Given the description of an element on the screen output the (x, y) to click on. 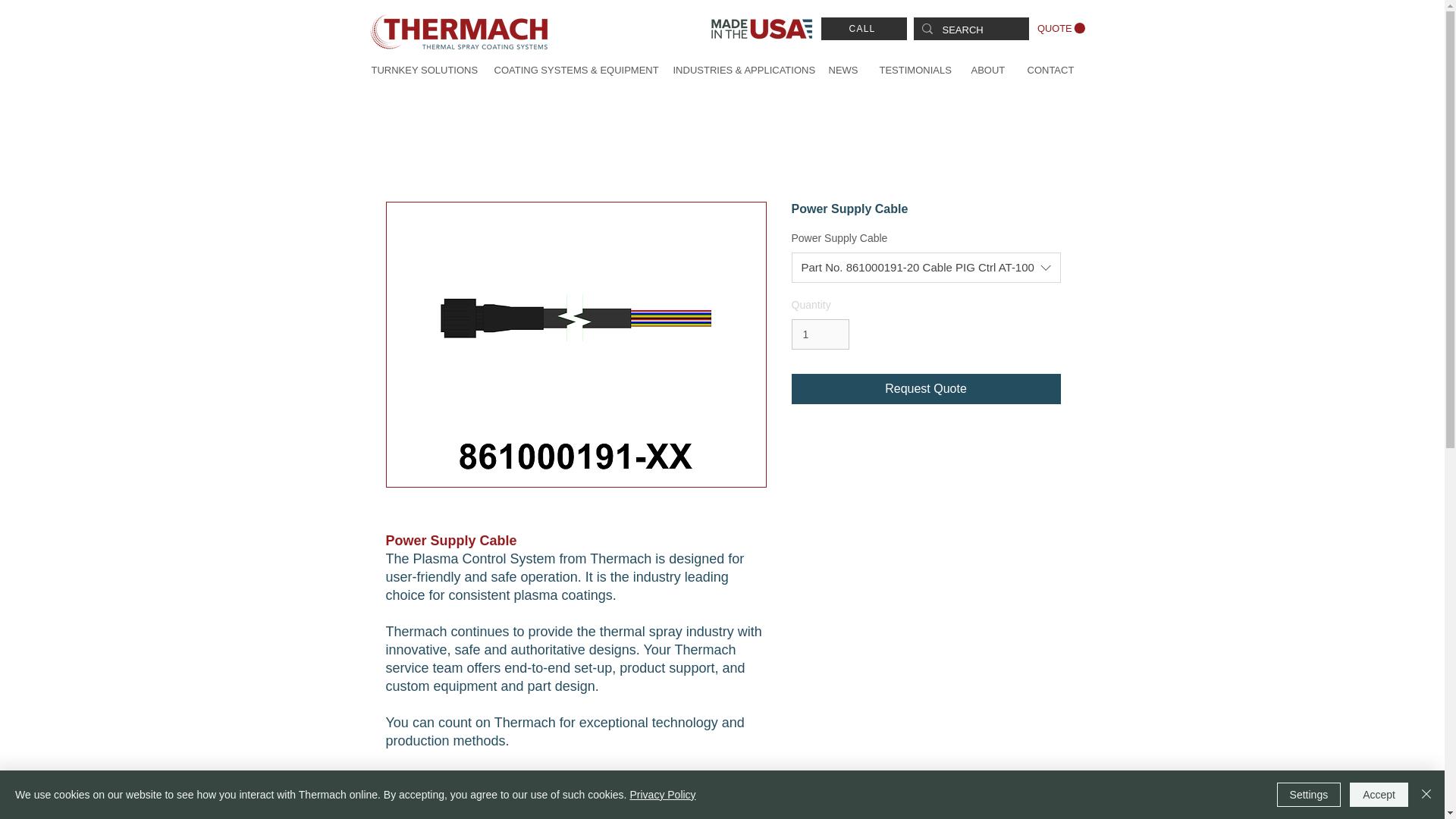
TURNKEY SOLUTIONS (420, 69)
Request Quote (926, 388)
CALL (863, 28)
NEWS (841, 69)
QUOTE (1060, 28)
Part No. 861000191-20 Cable PIG Ctrl AT-1000 (926, 267)
CONTACT (1050, 69)
1 (820, 334)
QUOTE (1060, 28)
ABOUT (987, 69)
